Given the description of an element on the screen output the (x, y) to click on. 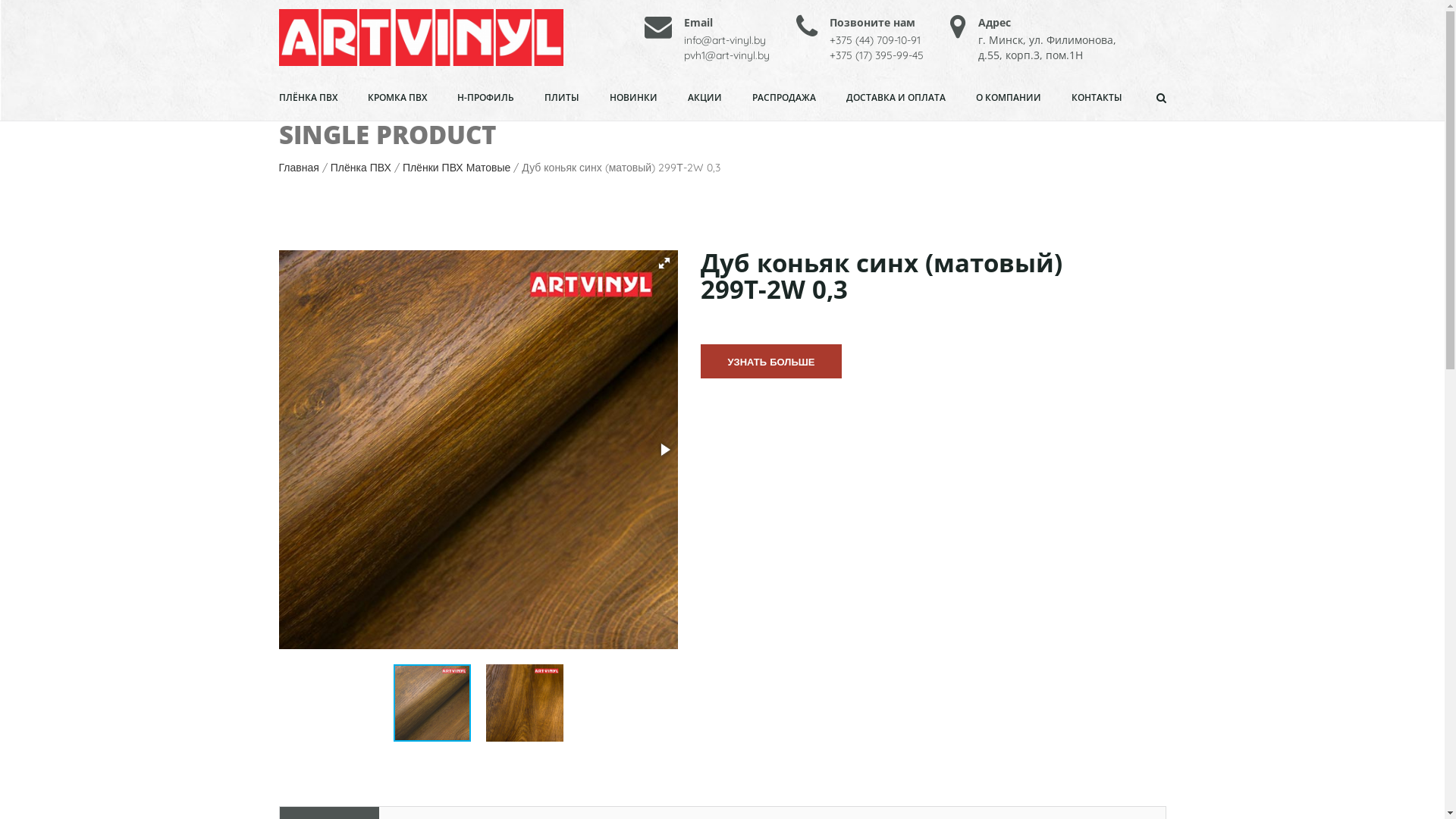
+375 (17) 395-99-45 Element type: text (876, 55)
+375 (44) 709-10-91 Element type: text (874, 40)
pvh1@art-vinyl.by Element type: text (726, 55)
info@art-vinyl.by Element type: text (724, 40)
